Given the description of an element on the screen output the (x, y) to click on. 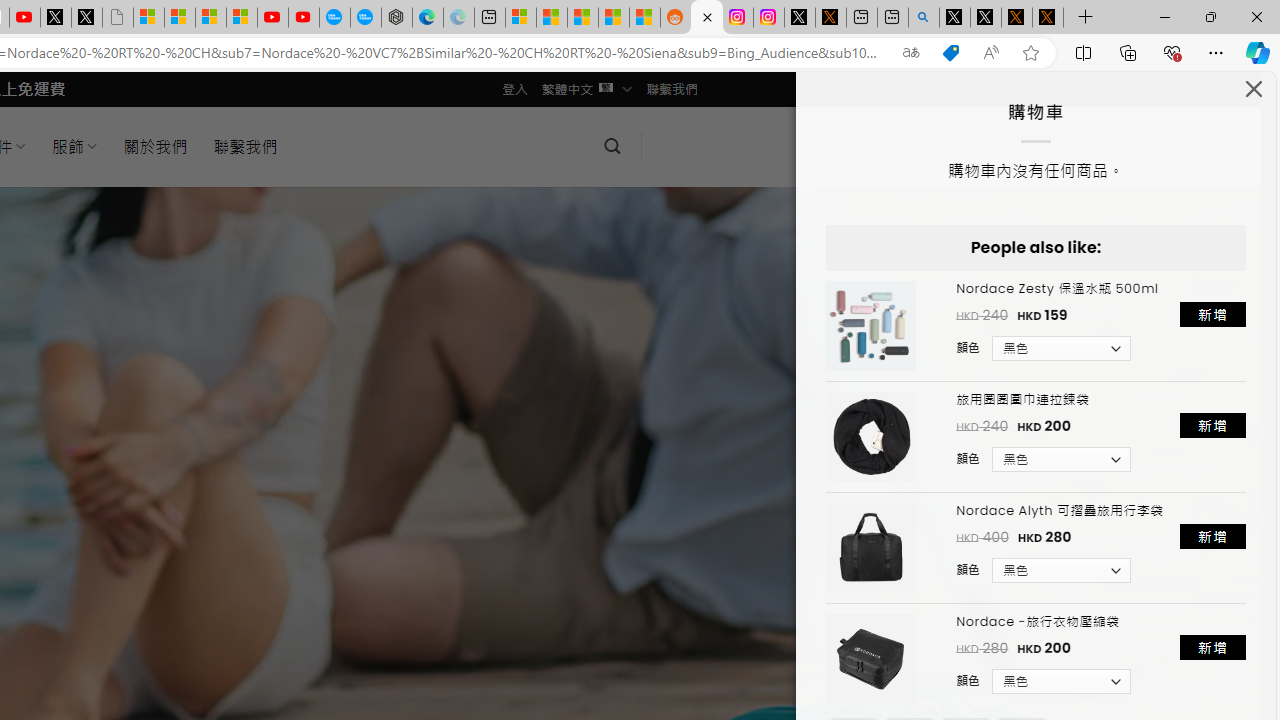
Shanghai, China hourly forecast | Microsoft Weather (582, 17)
Show translate options (910, 53)
